Given the description of an element on the screen output the (x, y) to click on. 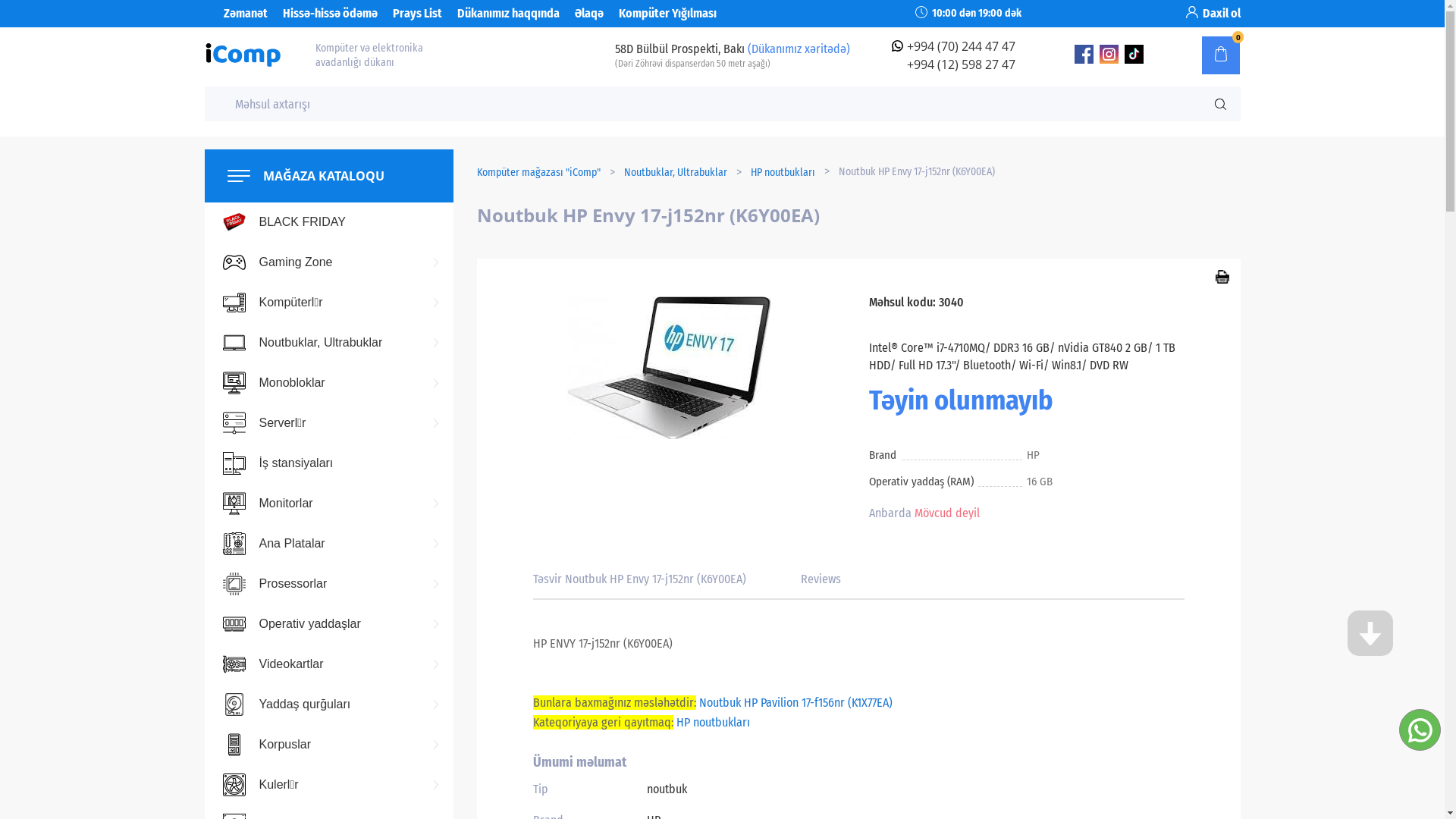
Prays List Element type: text (417, 13)
TikTok Element type: hover (1133, 59)
Noutbuklar, Ultrabuklar Element type: text (328, 342)
Noutbuklar, Ultrabuklar Element type: text (674, 171)
Ana Platalar Element type: text (328, 543)
Monitorlar Element type: text (328, 503)
+994 (12) 598 27 47 Element type: text (960, 64)
Daxil ol Element type: text (1221, 13)
Gaming Zone Element type: text (328, 262)
Noutbuk HP Pavilion 17-f156nr (K1X77EA) Element type: text (795, 702)
BLACK FRIDAY Element type: text (328, 221)
+994 (70) 244 47 47 Element type: text (960, 45)
Korpuslar Element type: text (328, 744)
Prosessorlar Element type: text (328, 583)
Videokartlar Element type: text (328, 664)
Monobloklar Element type: text (328, 382)
